Given the description of an element on the screen output the (x, y) to click on. 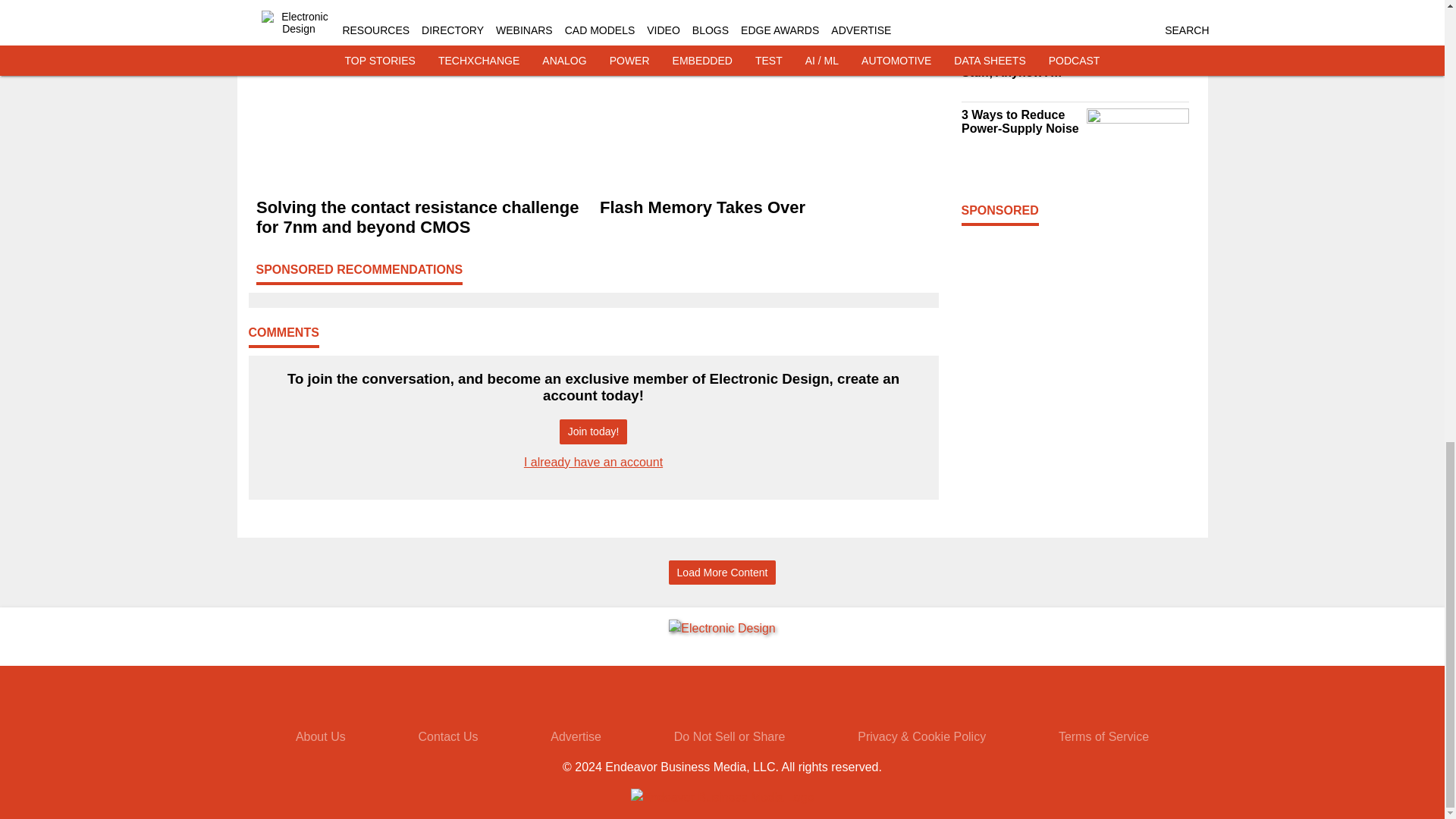
Join today! (593, 431)
I already have an account (593, 461)
Flash Memory Takes Over (764, 207)
